Given the description of an element on the screen output the (x, y) to click on. 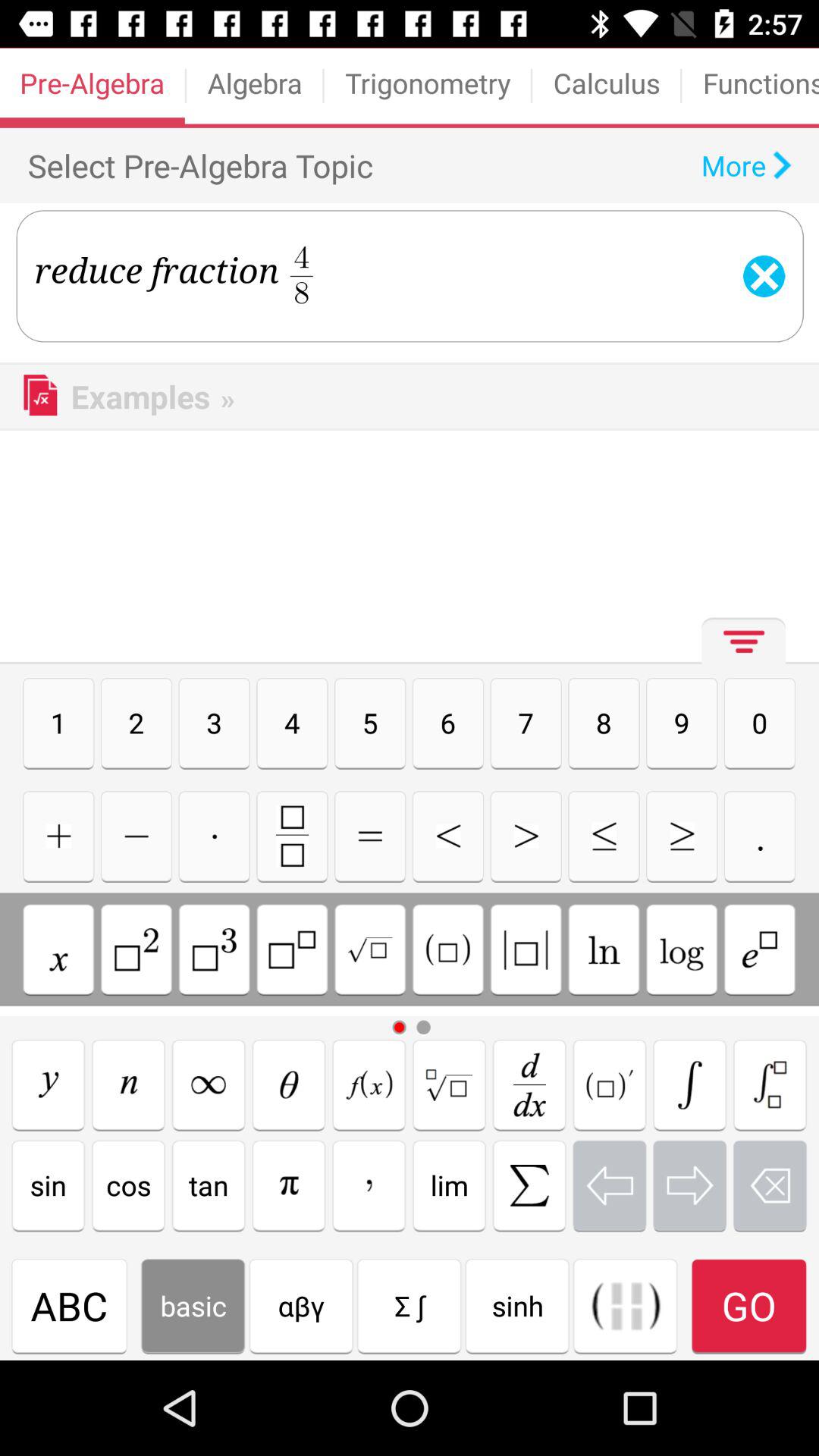
enter a period (759, 835)
